Given the description of an element on the screen output the (x, y) to click on. 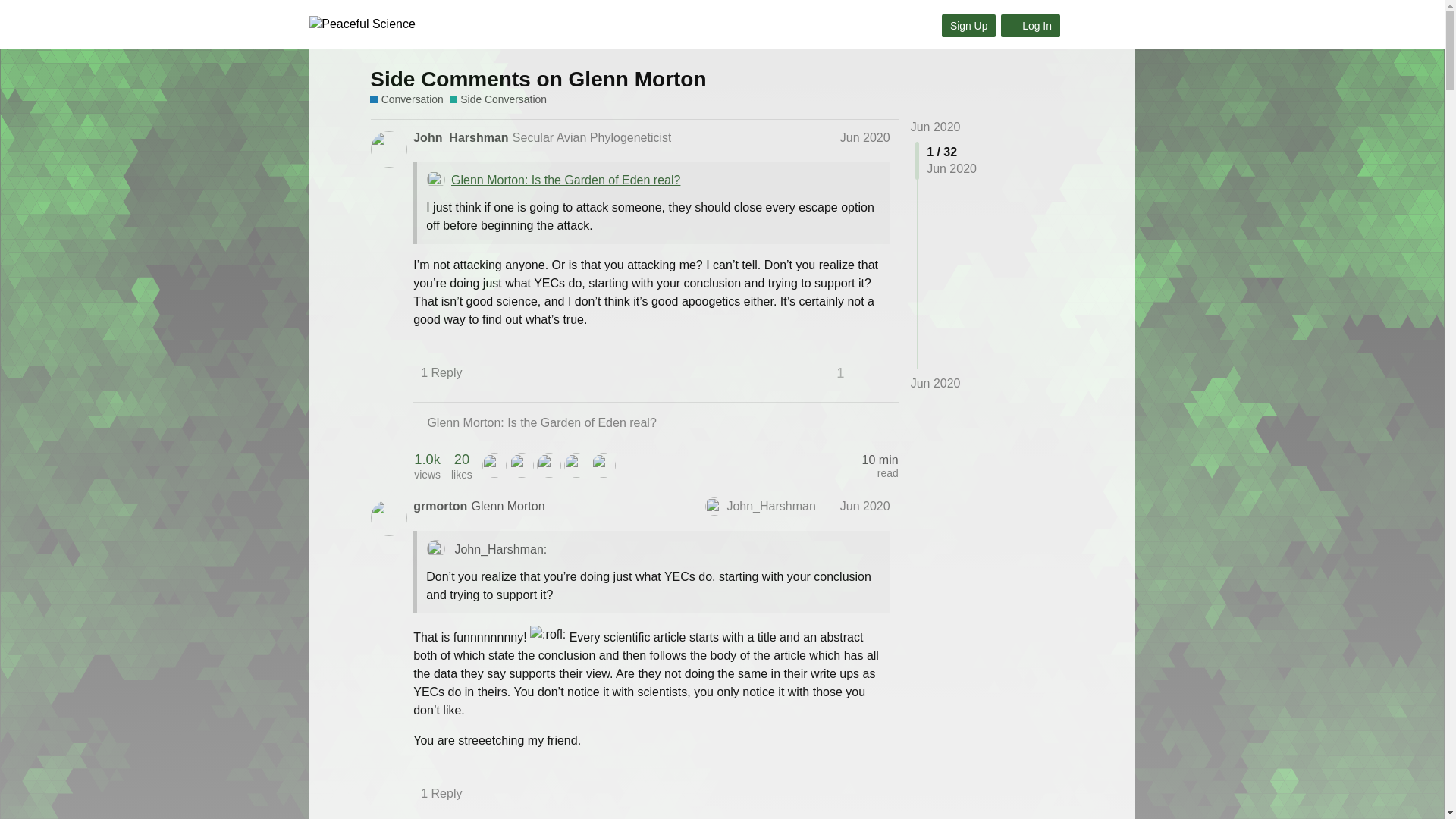
Glenn Morton (507, 505)
1 Reply (448, 372)
Sign Up (968, 25)
Dale Cutler (548, 465)
Jump to the first post (935, 126)
Edward Robinson (521, 465)
Log In (1030, 25)
1 (846, 372)
John Harshman (493, 465)
